Given the description of an element on the screen output the (x, y) to click on. 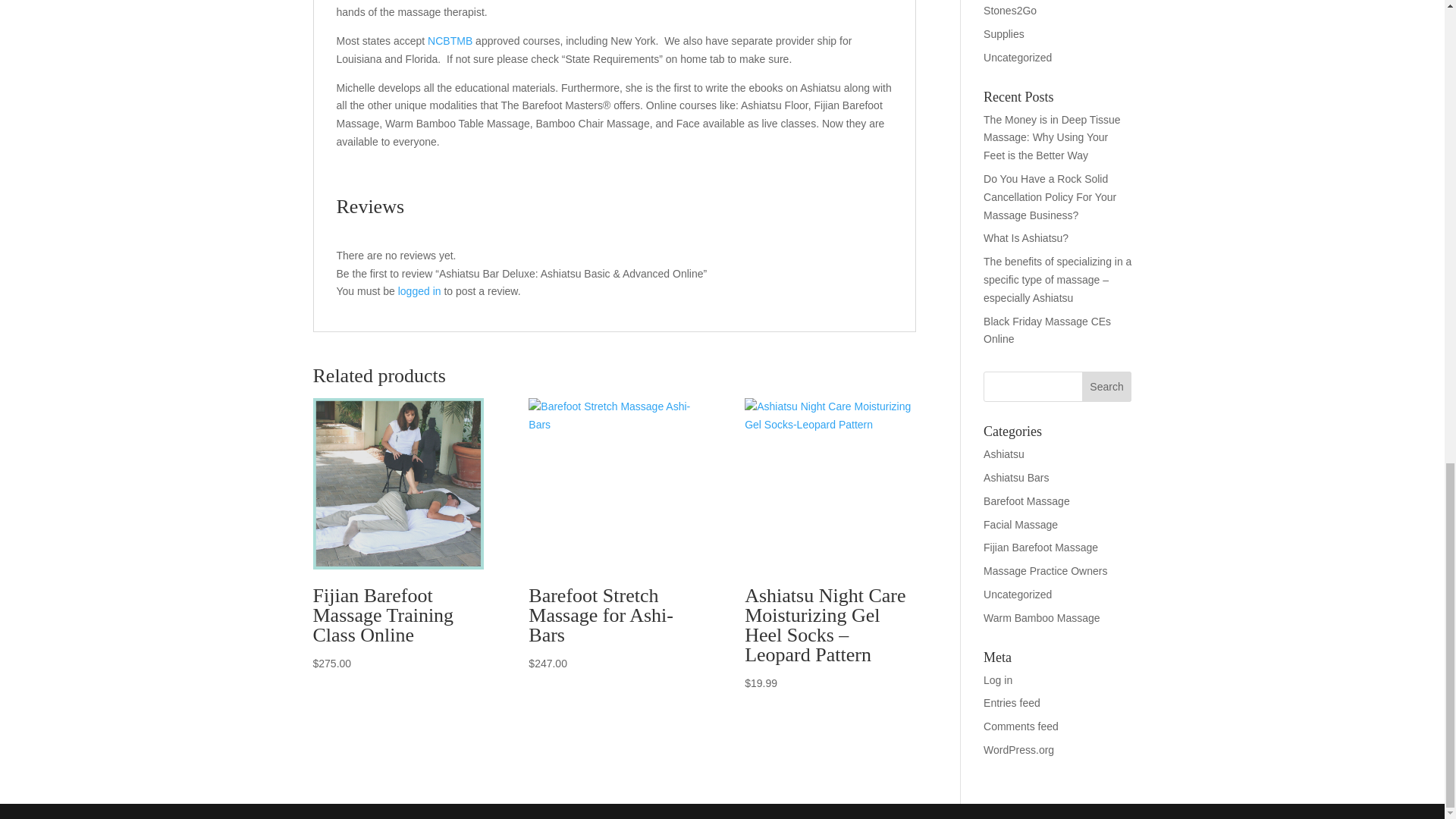
Search (1106, 386)
